Given the description of an element on the screen output the (x, y) to click on. 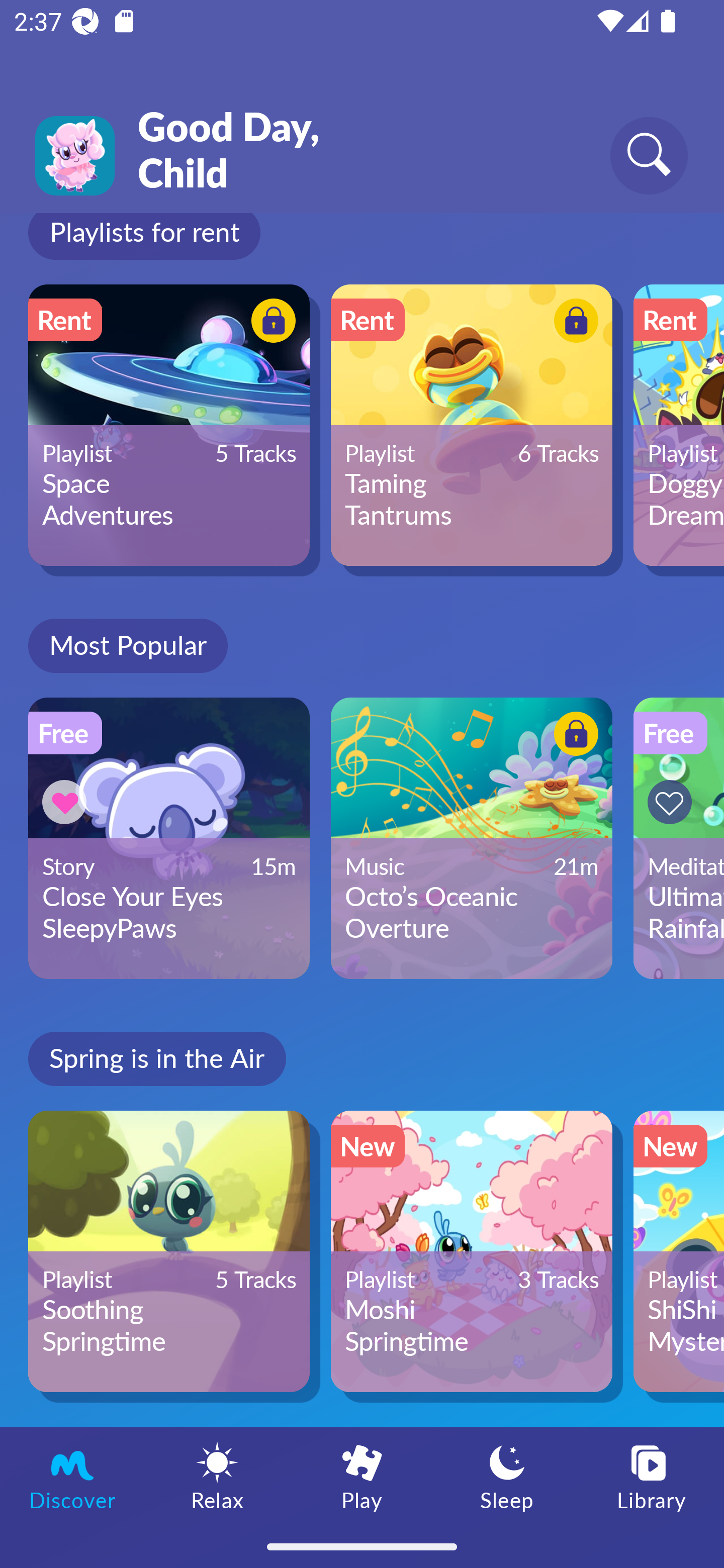
Search (648, 154)
Button (269, 322)
Button (573, 322)
Button (573, 736)
Button (67, 801)
Button (672, 801)
Relax (216, 1475)
Play (361, 1475)
Sleep (506, 1475)
Library (651, 1475)
